Given the description of an element on the screen output the (x, y) to click on. 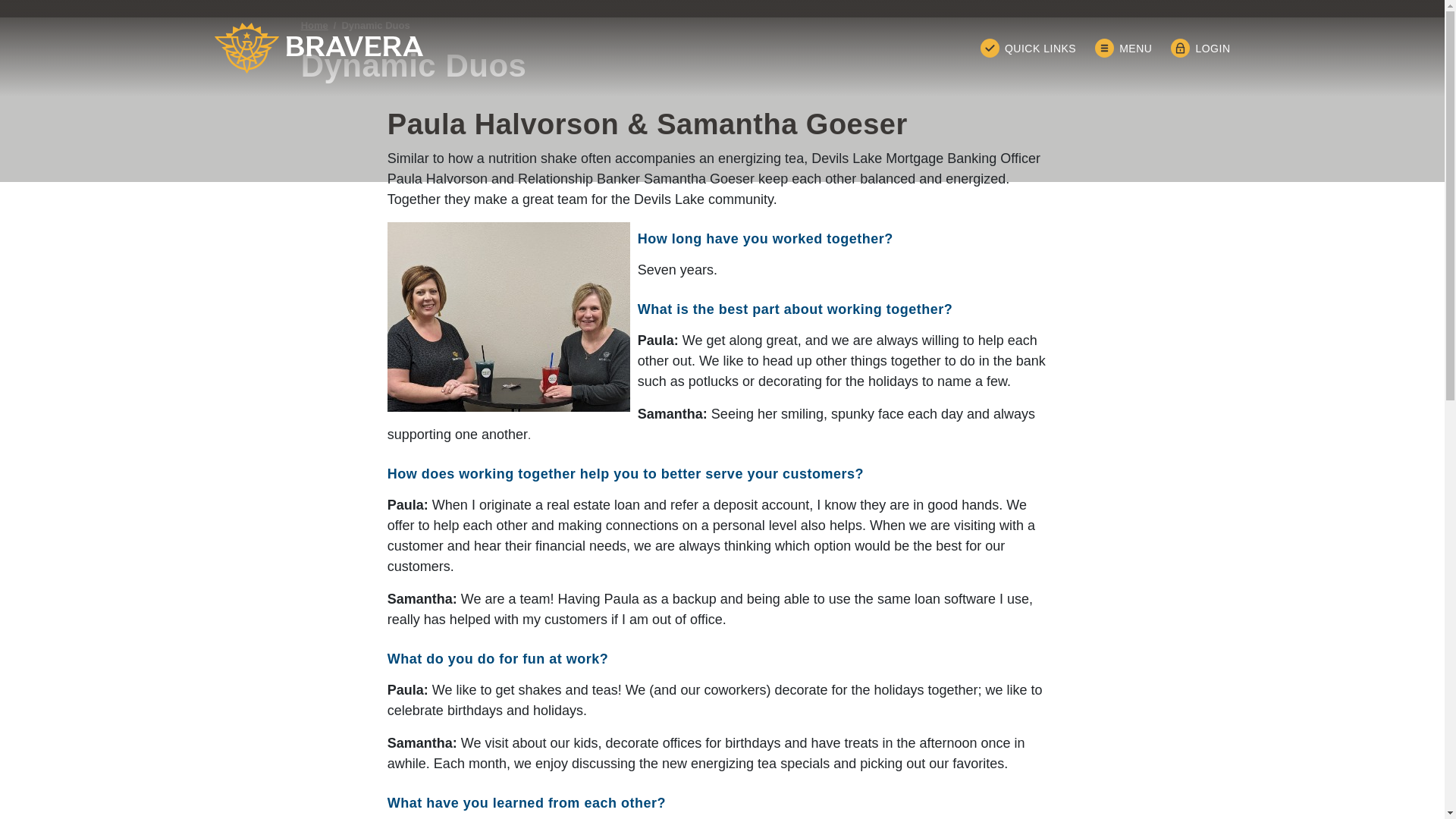
QUICK LINKS (1027, 47)
Bravera Bank, Bismarck, ND (318, 47)
MENU (1122, 47)
LOGIN (1200, 47)
